Given the description of an element on the screen output the (x, y) to click on. 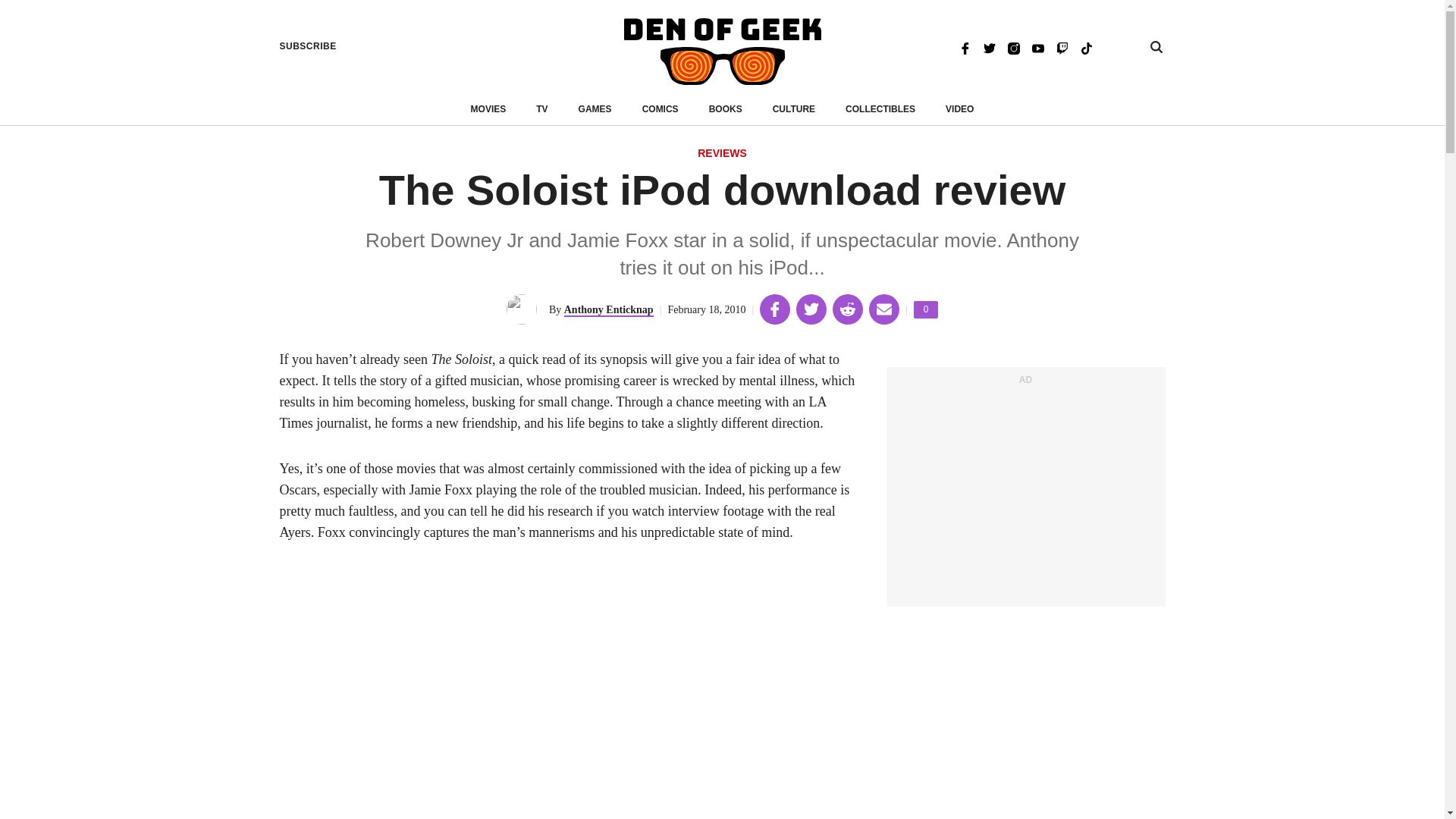
TikTok (1085, 46)
VIDEO (959, 109)
COMICS (660, 109)
Twitter (988, 46)
MOVIES (488, 109)
SUBSCRIBE (307, 46)
GAMES (594, 109)
Twitch (1061, 46)
Anthony Enticknap (608, 309)
CULTURE (794, 109)
